Given the description of an element on the screen output the (x, y) to click on. 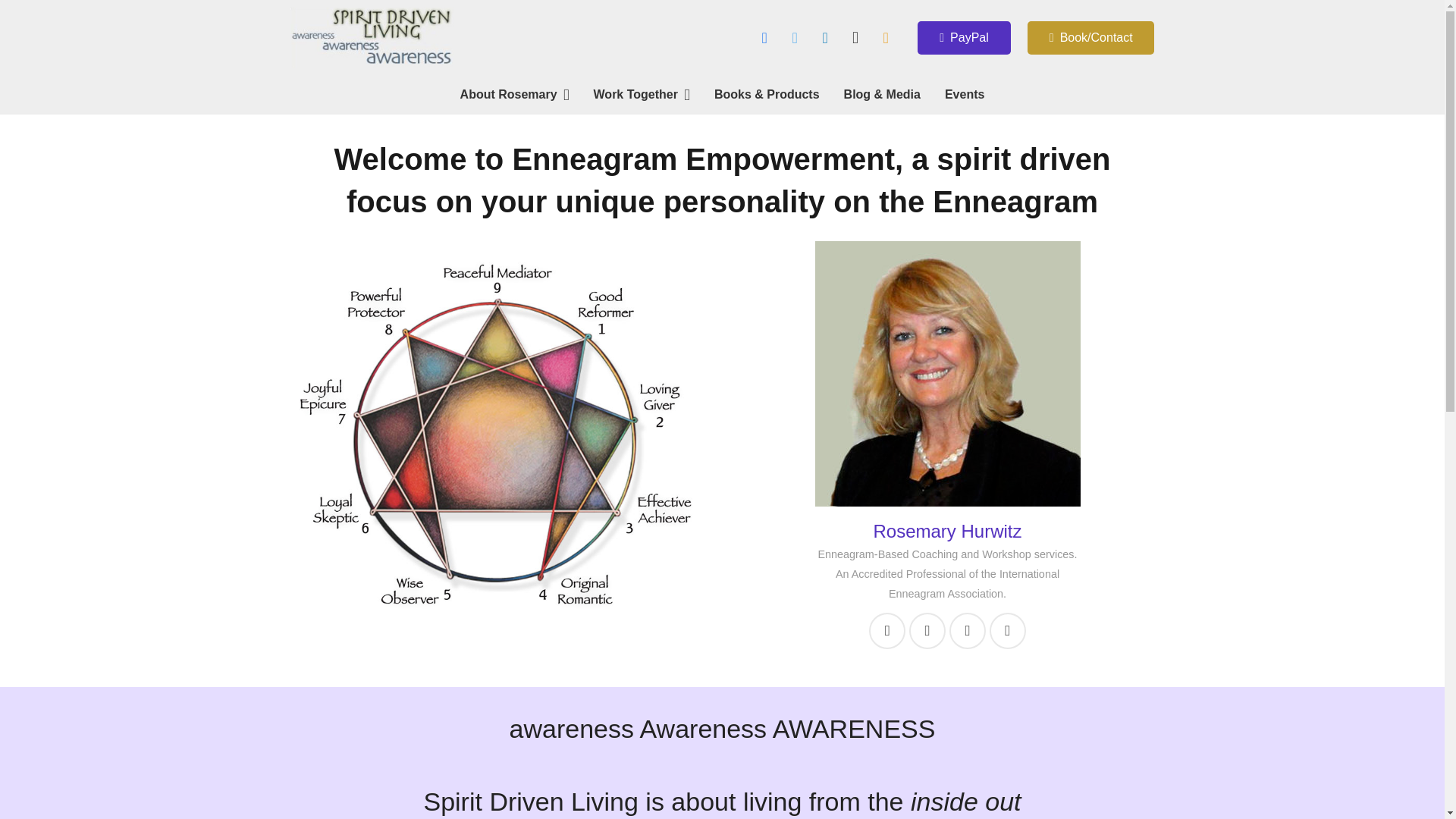
About Rosemary (514, 94)
Amazon Author (885, 37)
Instagram (855, 37)
About Rosemary Hurwitz (946, 531)
Facebook (763, 37)
Rosemary Hurwitz (946, 531)
LinkedIn (824, 37)
Events (964, 94)
Work Together (640, 94)
About Rosemary Hurwitz (946, 373)
PayPal (963, 38)
Twitter (793, 37)
